Given the description of an element on the screen output the (x, y) to click on. 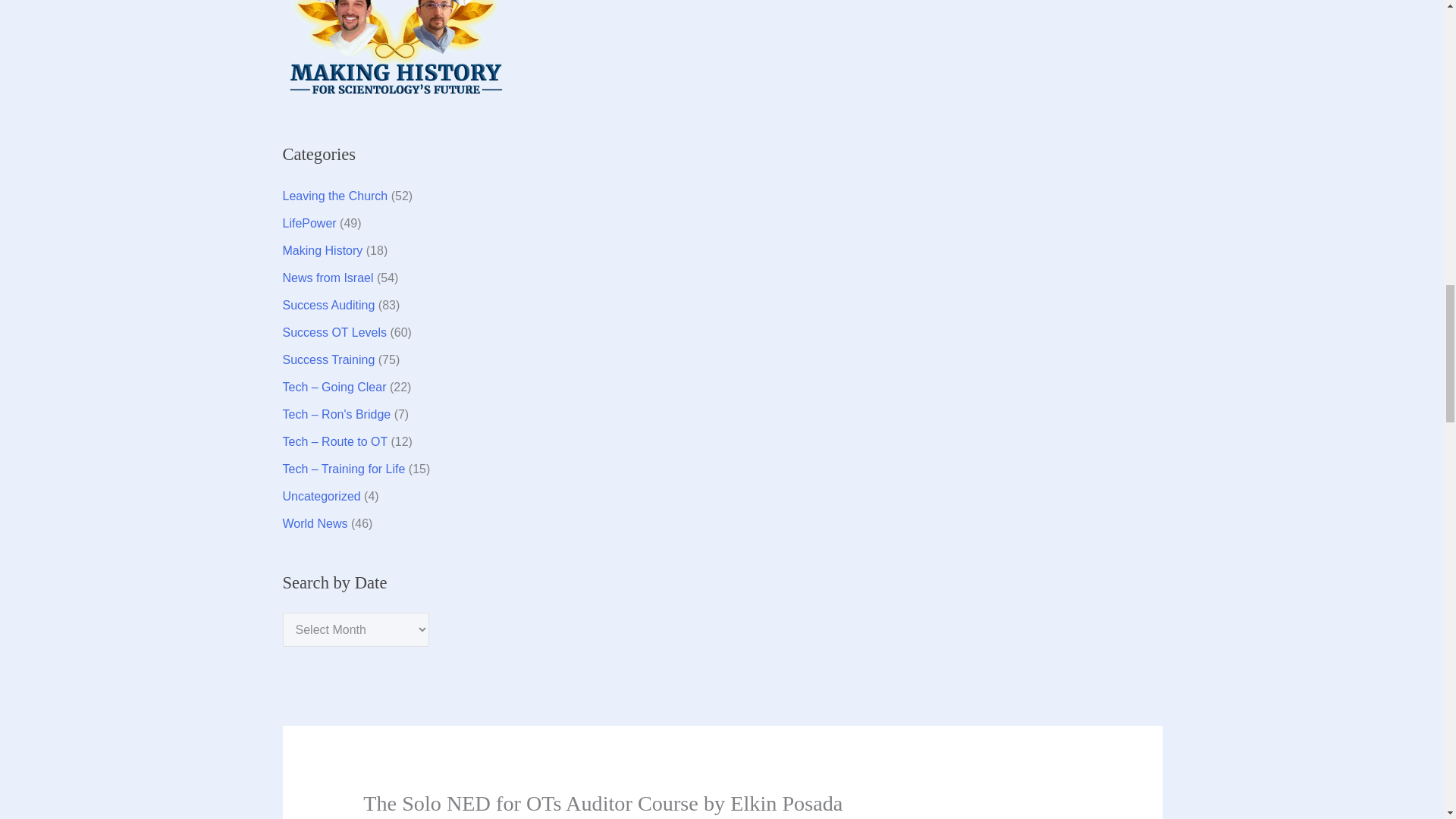
Leaving the Church (334, 195)
Making History (322, 250)
News from Israel (327, 277)
Success Training (328, 359)
Success Auditing (328, 305)
Success OT Levels (334, 332)
LifePower (309, 223)
Uncategorized (320, 495)
